Given the description of an element on the screen output the (x, y) to click on. 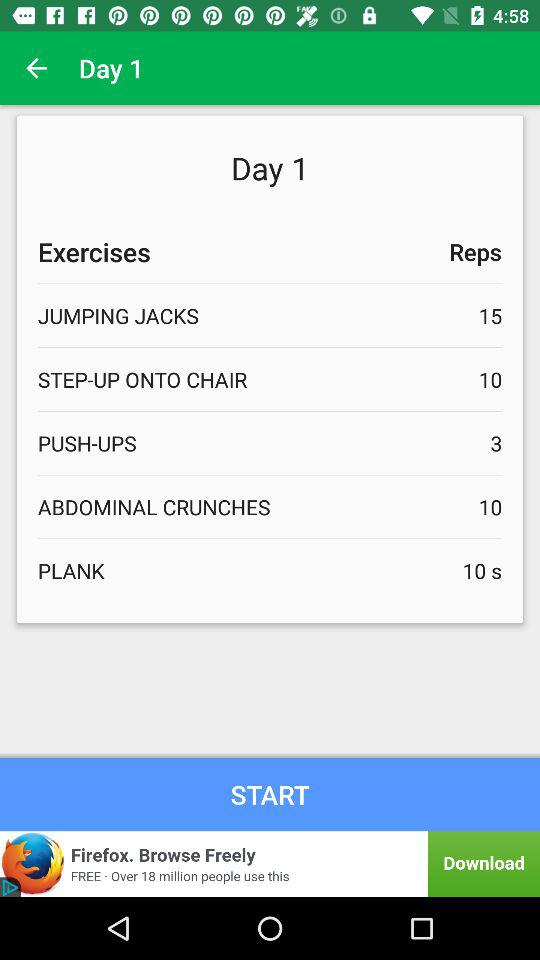
find out more about an advertisement (270, 864)
